Given the description of an element on the screen output the (x, y) to click on. 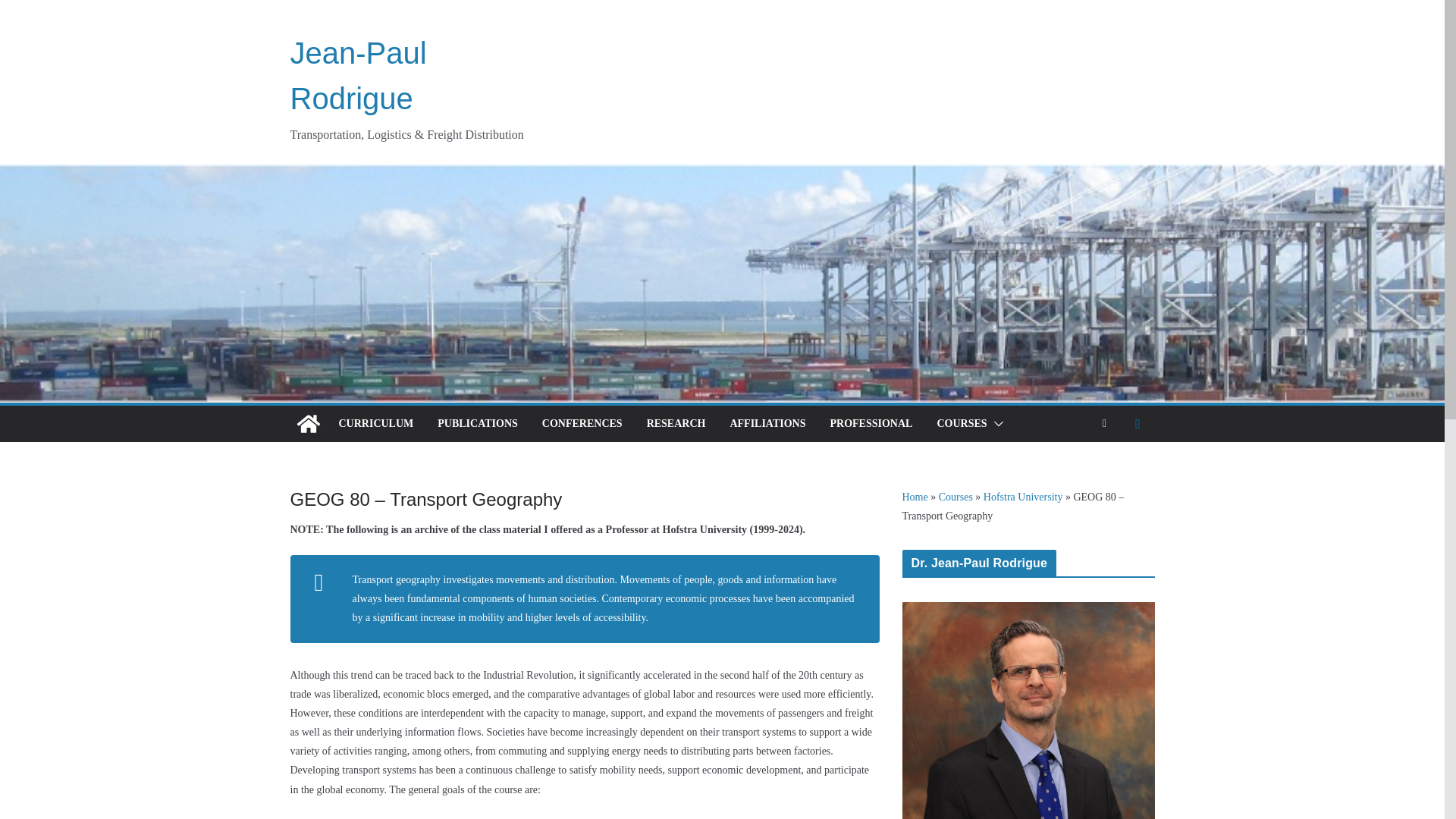
CURRICULUM (375, 423)
Hofstra University (1023, 496)
Home (915, 496)
AFFILIATIONS (767, 423)
PUBLICATIONS (478, 423)
Hofstra University (1023, 496)
Jean-Paul Rodrigue (307, 423)
Courses (955, 496)
PROFESSIONAL (870, 423)
CONFERENCES (582, 423)
RESEARCH (676, 423)
Jean-Paul Rodrigue (357, 75)
Jean-Paul Rodrigue (357, 75)
Courses (955, 496)
COURSES (961, 423)
